Given the description of an element on the screen output the (x, y) to click on. 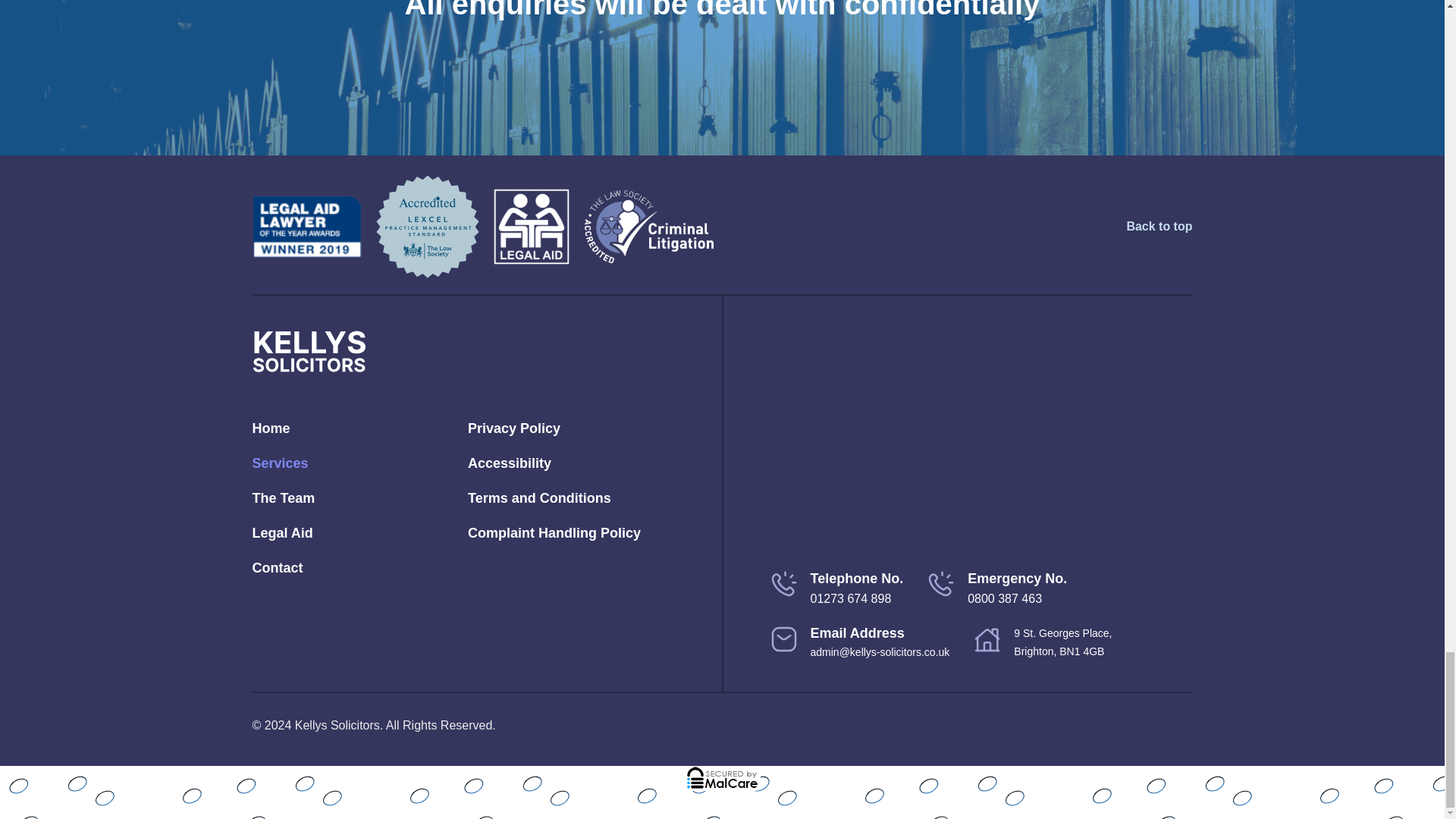
Home (355, 428)
Kellys Solicitors, 9 St. Georges Place, Brighton, BN1 4GB (980, 439)
Services (355, 462)
Back to top (1158, 226)
